Given the description of an element on the screen output the (x, y) to click on. 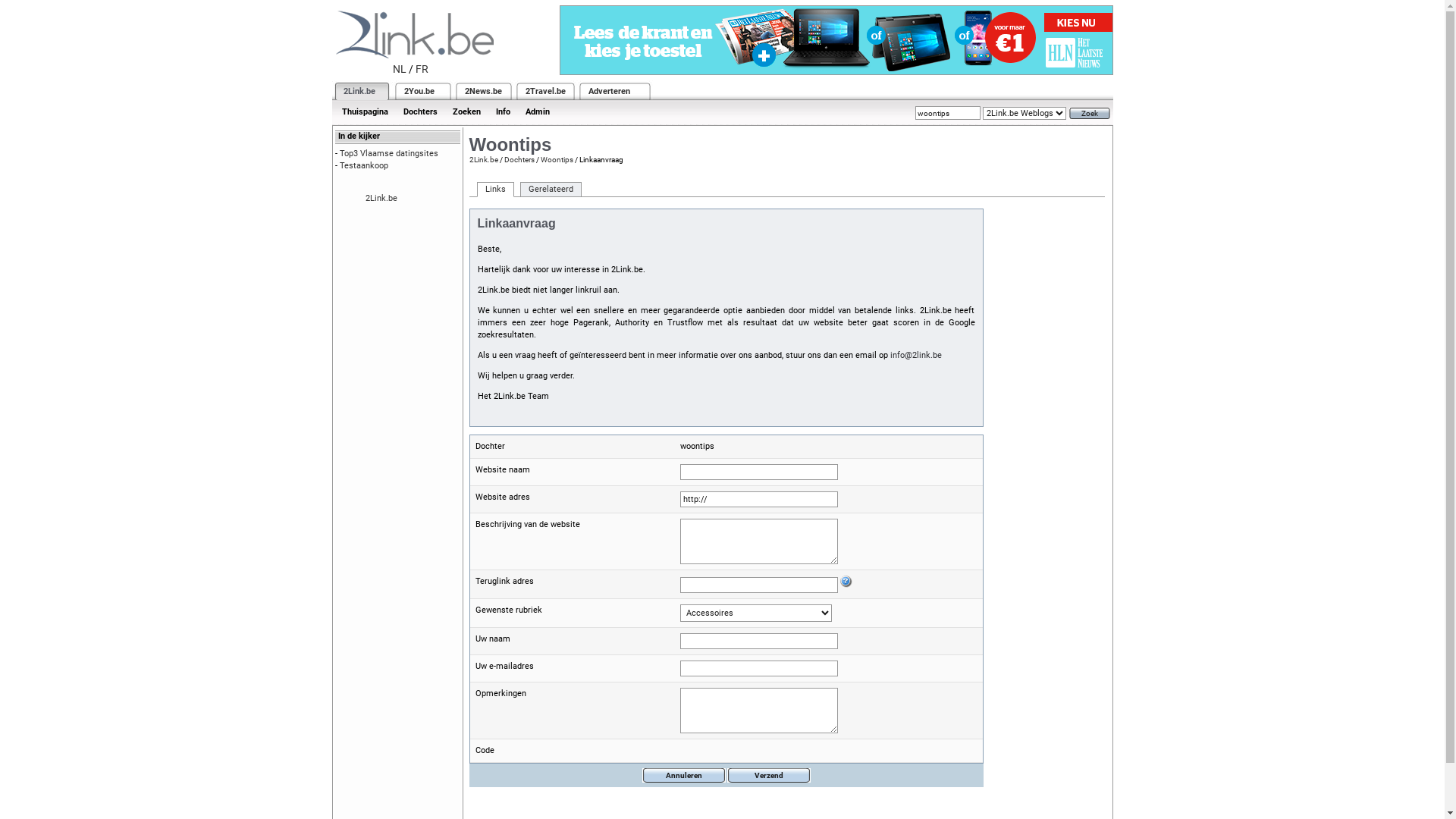
FR Element type: text (421, 68)
Adverteren Element type: text (609, 91)
2Link.be Element type: text (482, 159)
2Link.be Element type: text (358, 91)
info@2link.be Element type: text (915, 355)
Verzend Element type: text (767, 775)
2News.be Element type: text (482, 91)
2Travel.be Element type: text (544, 91)
2You.be Element type: text (418, 91)
Zoeken Element type: text (465, 111)
Gerelateerd Element type: text (550, 189)
Info Element type: text (502, 111)
Woontips Element type: text (555, 159)
Top3 Vlaamse datingsites Element type: text (388, 153)
Testaankoop Element type: text (363, 165)
2Link.be Element type: text (381, 198)
Zoek Element type: text (1089, 113)
Thuispagina Element type: text (364, 111)
Dochters Element type: text (420, 111)
Dochters Element type: text (518, 159)
Admin Element type: text (536, 111)
Links Element type: text (494, 189)
NL Element type: text (399, 68)
